Given the description of an element on the screen output the (x, y) to click on. 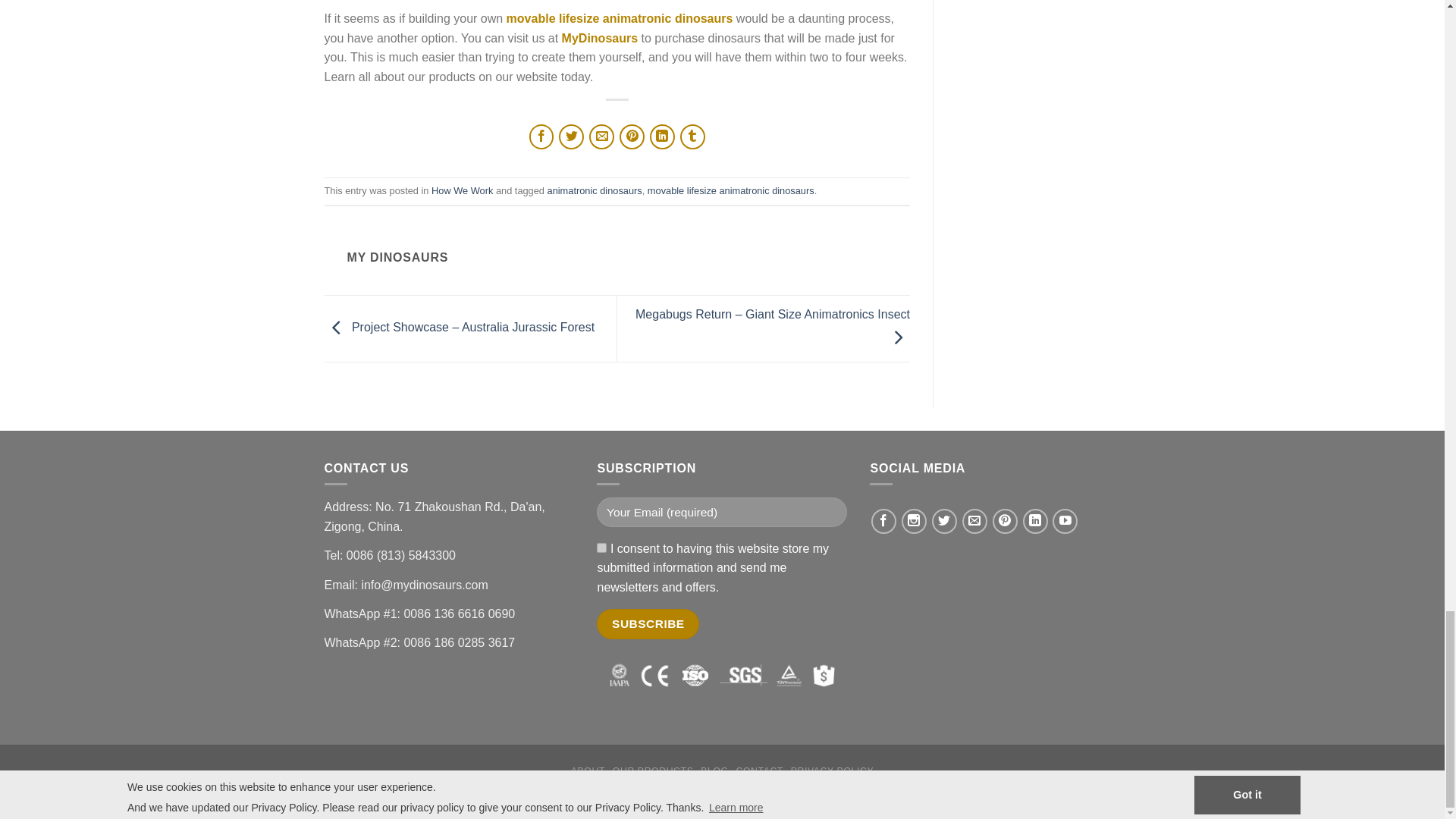
Subscribe (647, 623)
1 (601, 547)
